Given the description of an element on the screen output the (x, y) to click on. 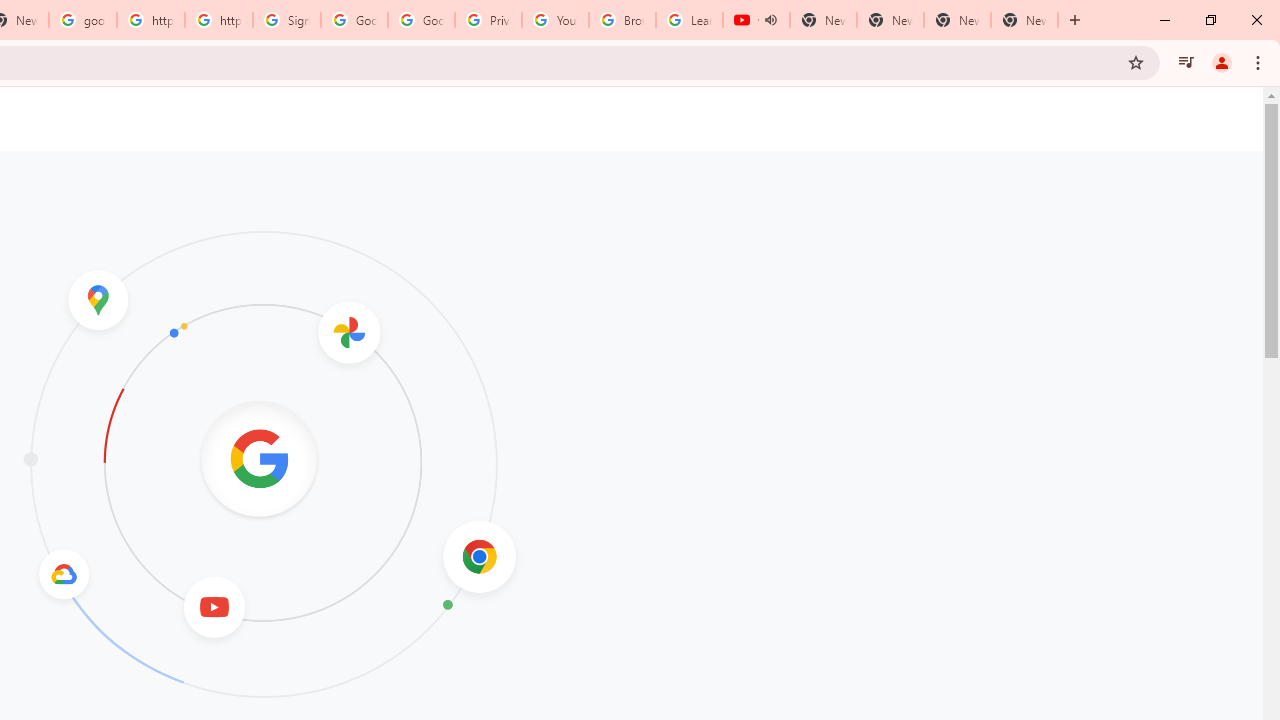
https://scholar.google.com/ (219, 20)
https://scholar.google.com/ (150, 20)
